Given the description of an element on the screen output the (x, y) to click on. 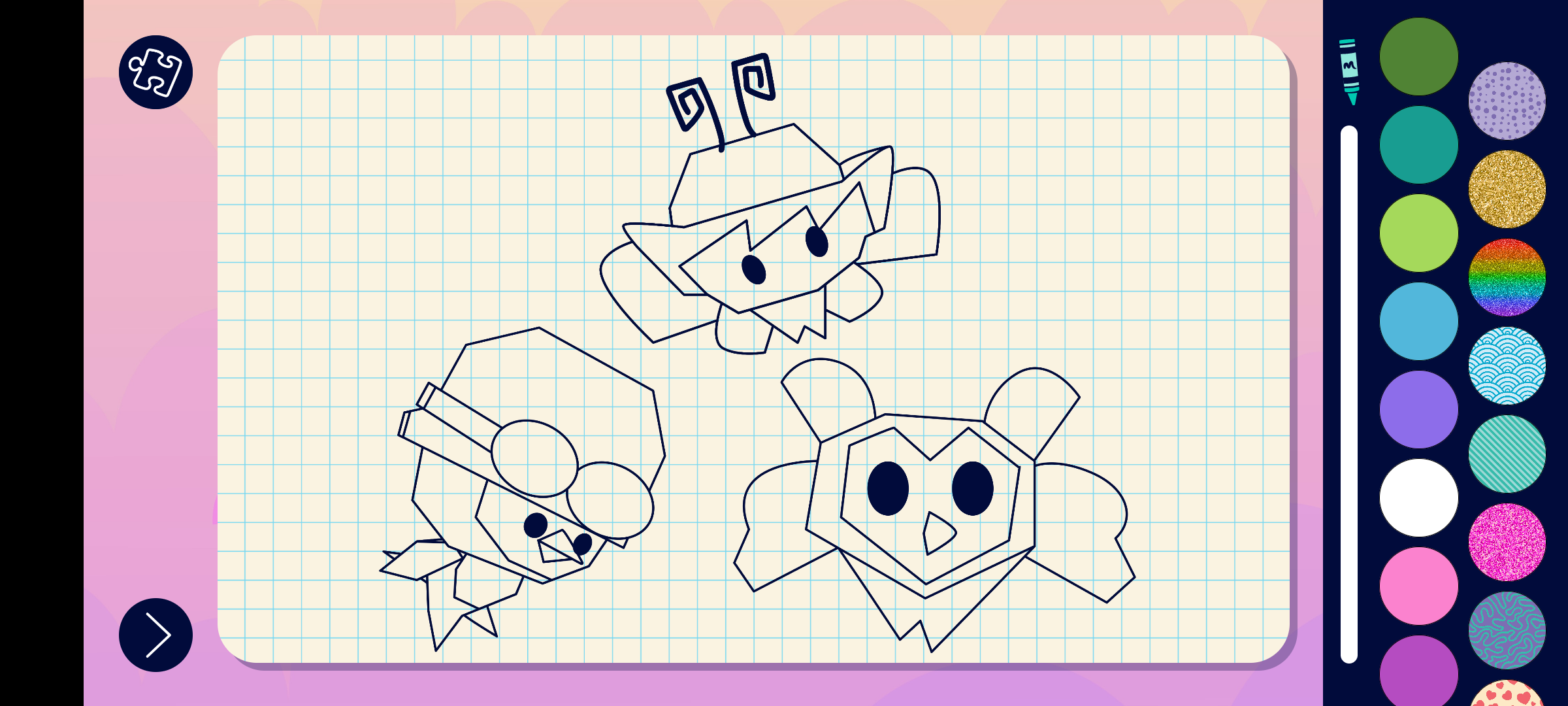
coloring background (1507, 101)
coloring background (1507, 189)
coloring background (1507, 277)
coloring background (1507, 365)
coloring background (1507, 454)
coloring background (1507, 542)
coloring background (1507, 630)
